Given the description of an element on the screen output the (x, y) to click on. 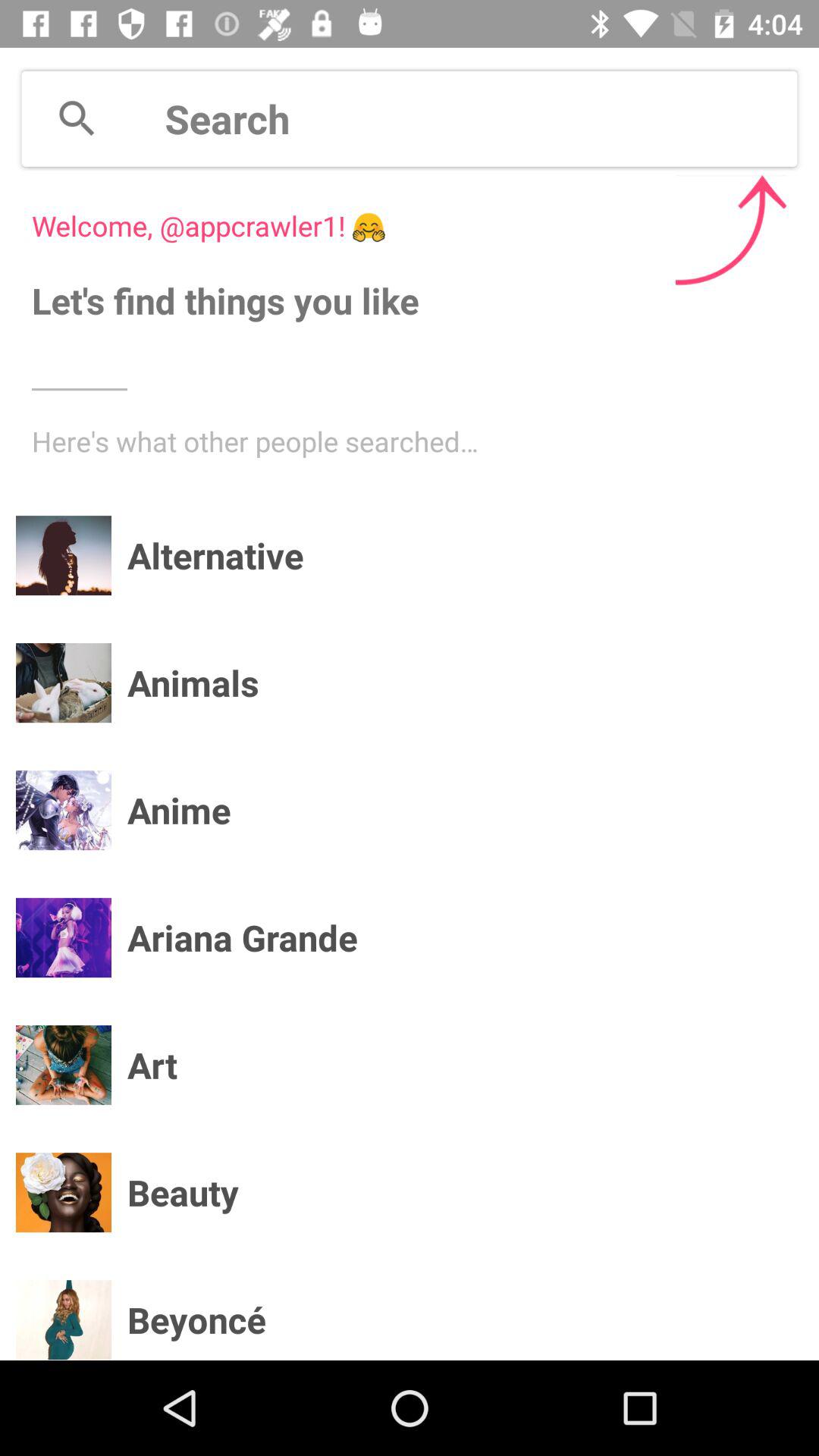
search button (77, 118)
